Given the description of an element on the screen output the (x, y) to click on. 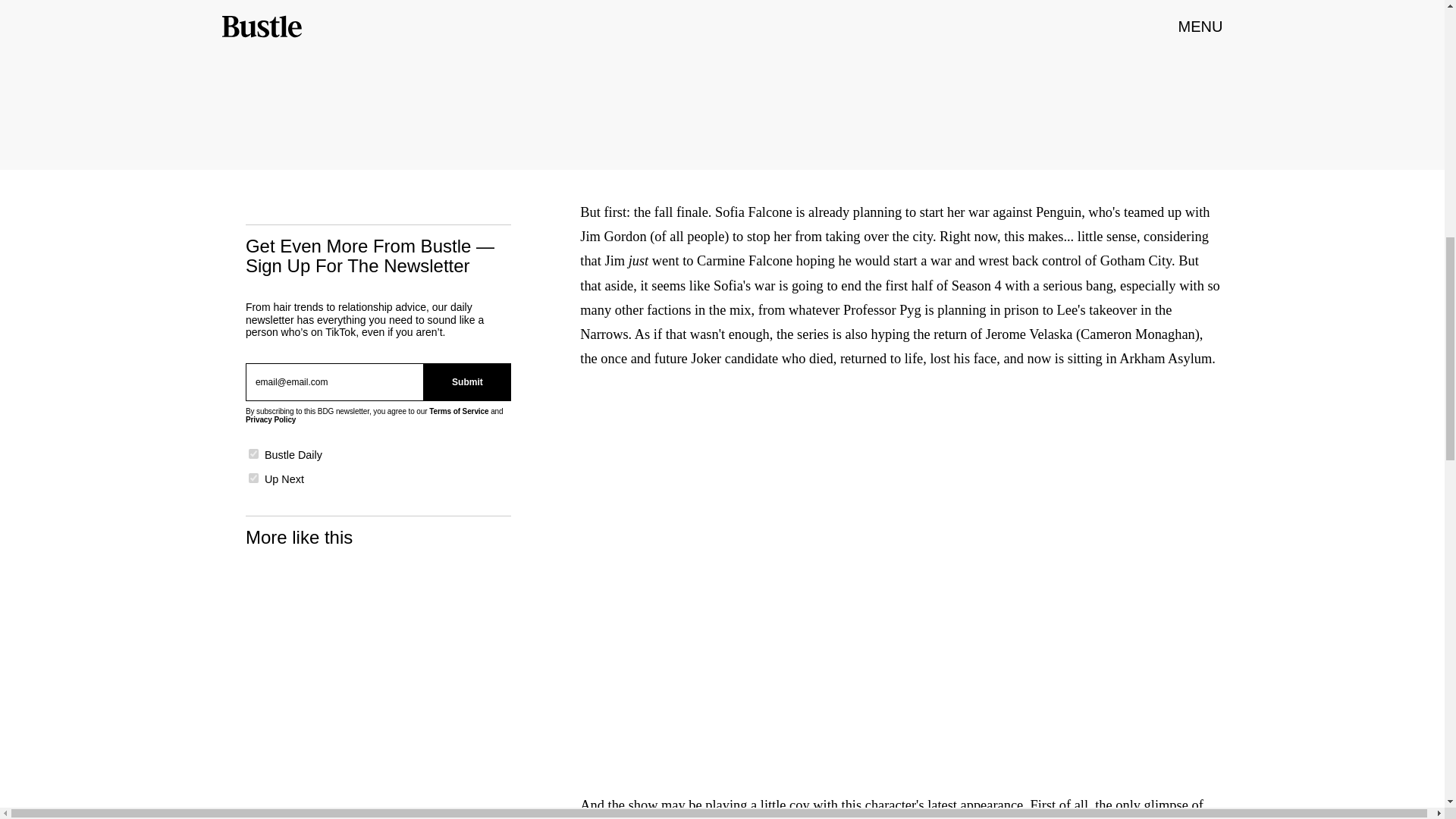
Submit (467, 382)
Terms of Service (458, 411)
Privacy Policy (270, 419)
